Given the description of an element on the screen output the (x, y) to click on. 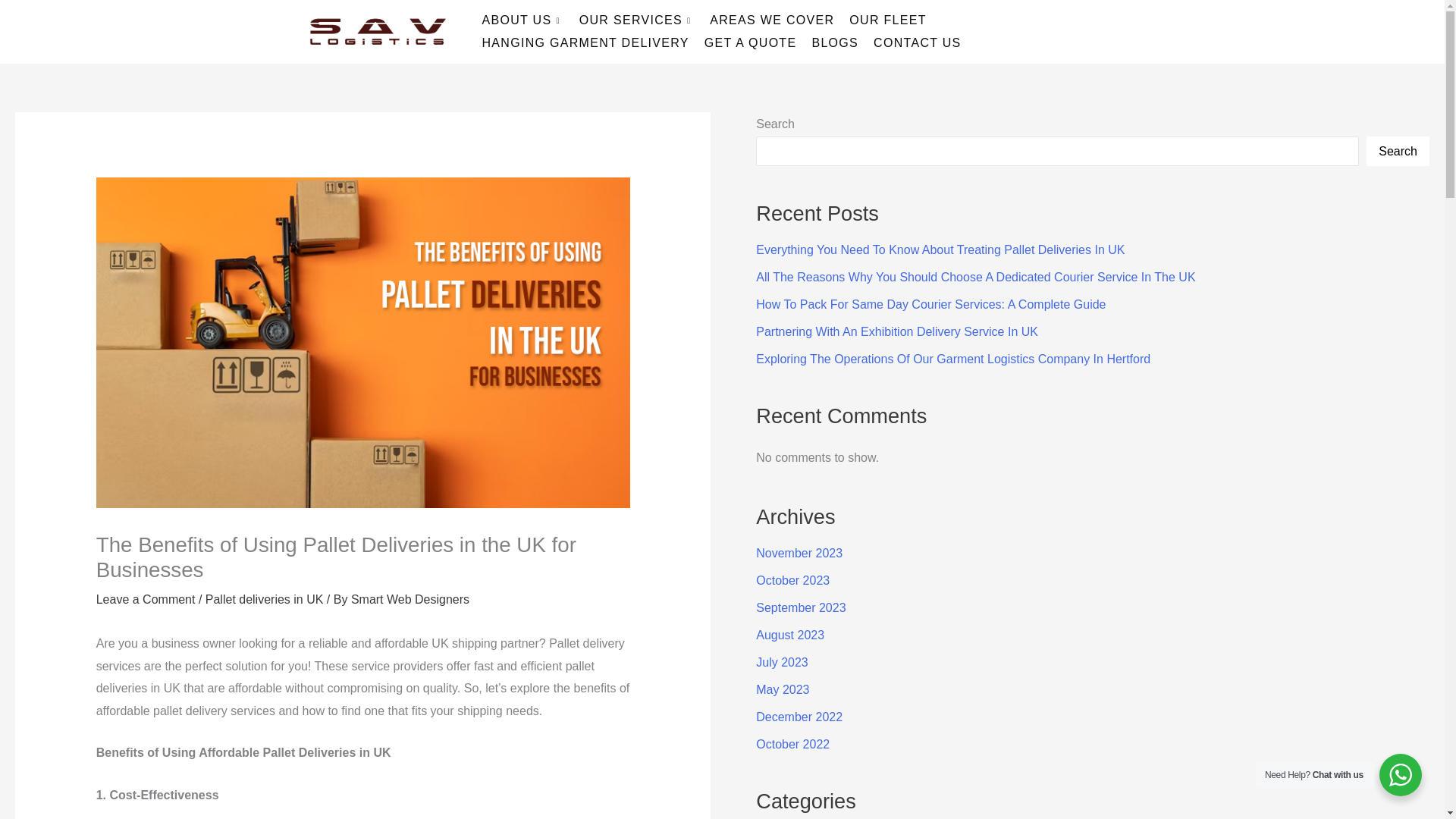
CONTACT US (917, 42)
View all posts by Smart Web Designers (409, 599)
OUR FLEET (887, 20)
GET A QUOTE (751, 42)
BLOGS (834, 42)
OUR SERVICES (637, 20)
AREAS WE COVER (771, 20)
ABOUT US (523, 20)
HANGING GARMENT DELIVERY (585, 42)
